Given the description of an element on the screen output the (x, y) to click on. 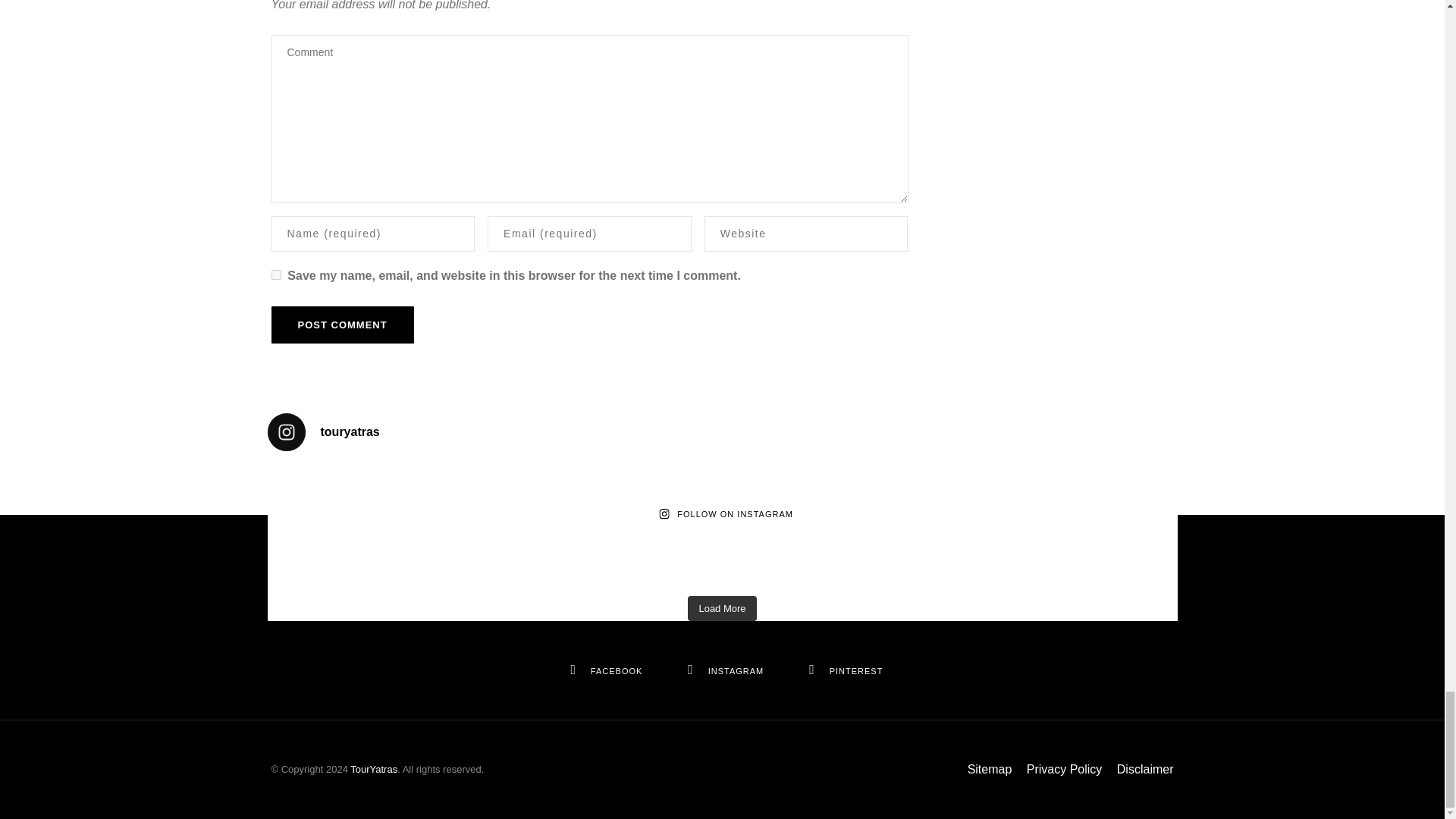
yes (275, 275)
Post Comment (341, 324)
